Given the description of an element on the screen output the (x, y) to click on. 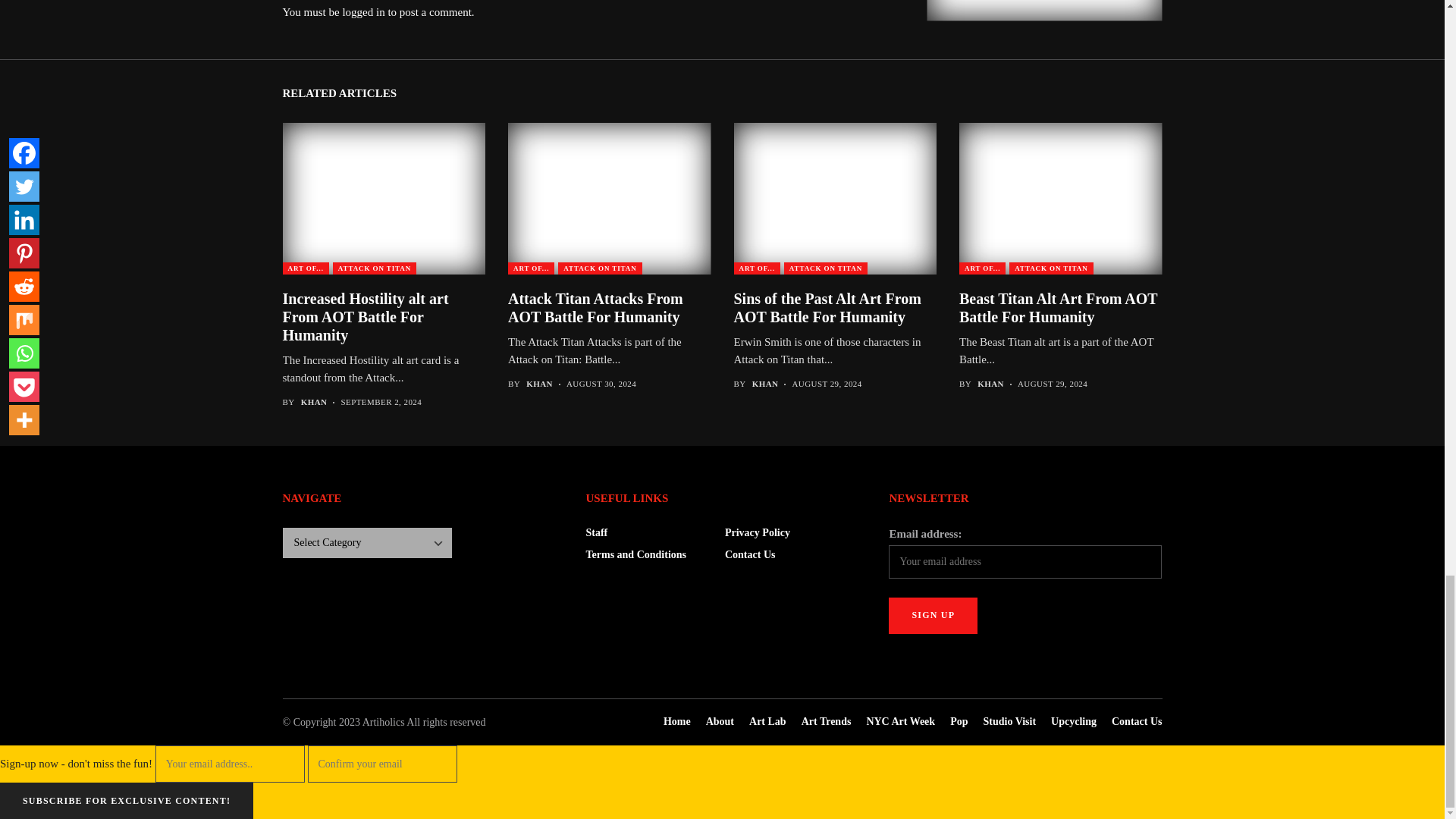
Posts by Khan (314, 402)
Posts by Khan (765, 384)
Sign up (932, 615)
Posts by Khan (539, 384)
